Given the description of an element on the screen output the (x, y) to click on. 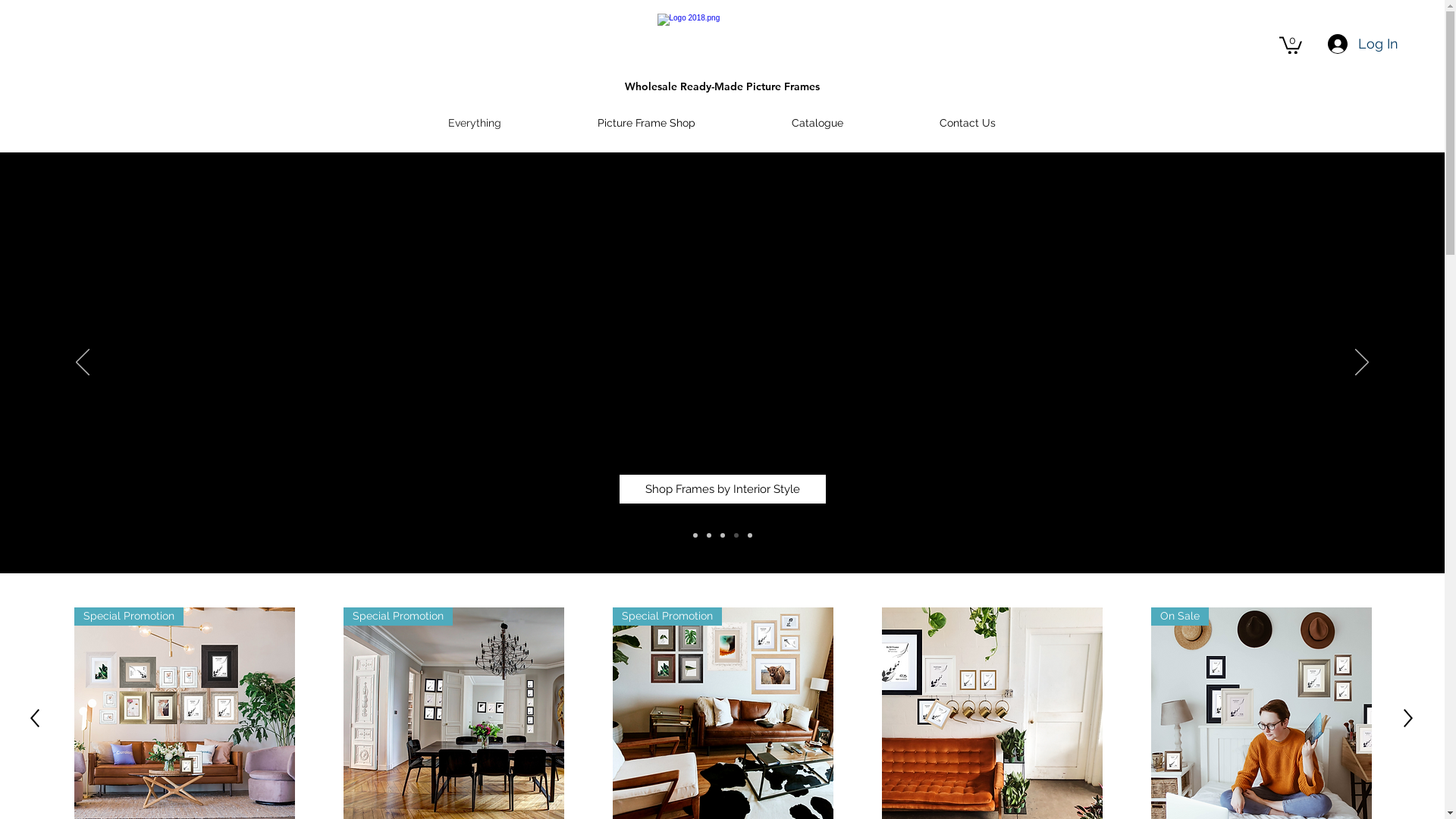
0 Element type: text (1290, 43)
Log In Element type: text (1362, 43)
Contact Us Element type: text (967, 122)
Put your Family in a Gallery Frame Element type: text (721, 507)
Picture Frame Shop Element type: text (646, 122)
Everything Element type: text (474, 122)
Catalogue Element type: text (817, 122)
